Given the description of an element on the screen output the (x, y) to click on. 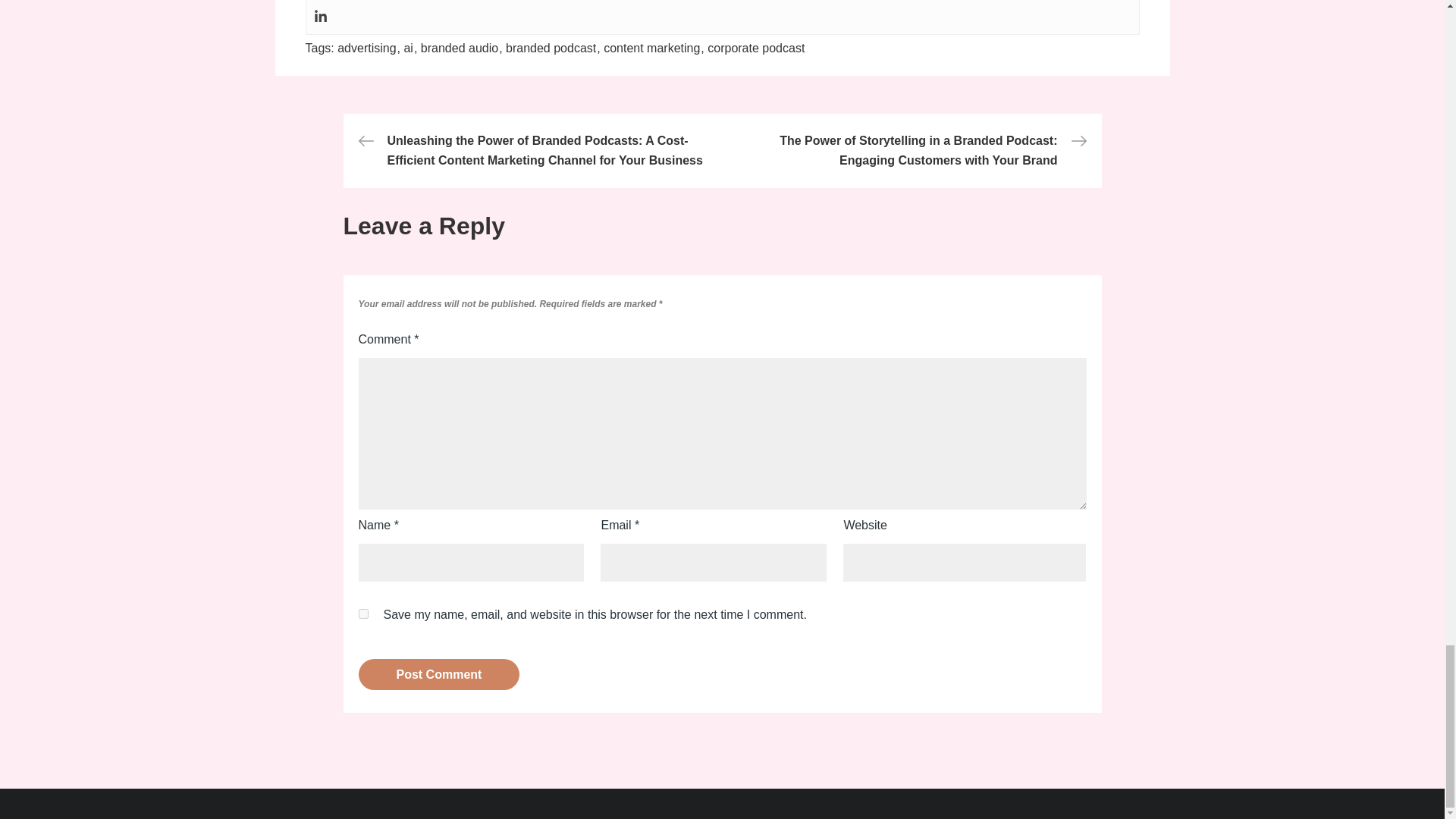
Post Comment (438, 674)
advertising (368, 47)
ai (409, 47)
yes (363, 614)
content marketing (654, 47)
branded podcast (552, 47)
Post Comment (438, 674)
corporate podcast (756, 47)
branded audio (461, 47)
Linkedin (320, 15)
